Given the description of an element on the screen output the (x, y) to click on. 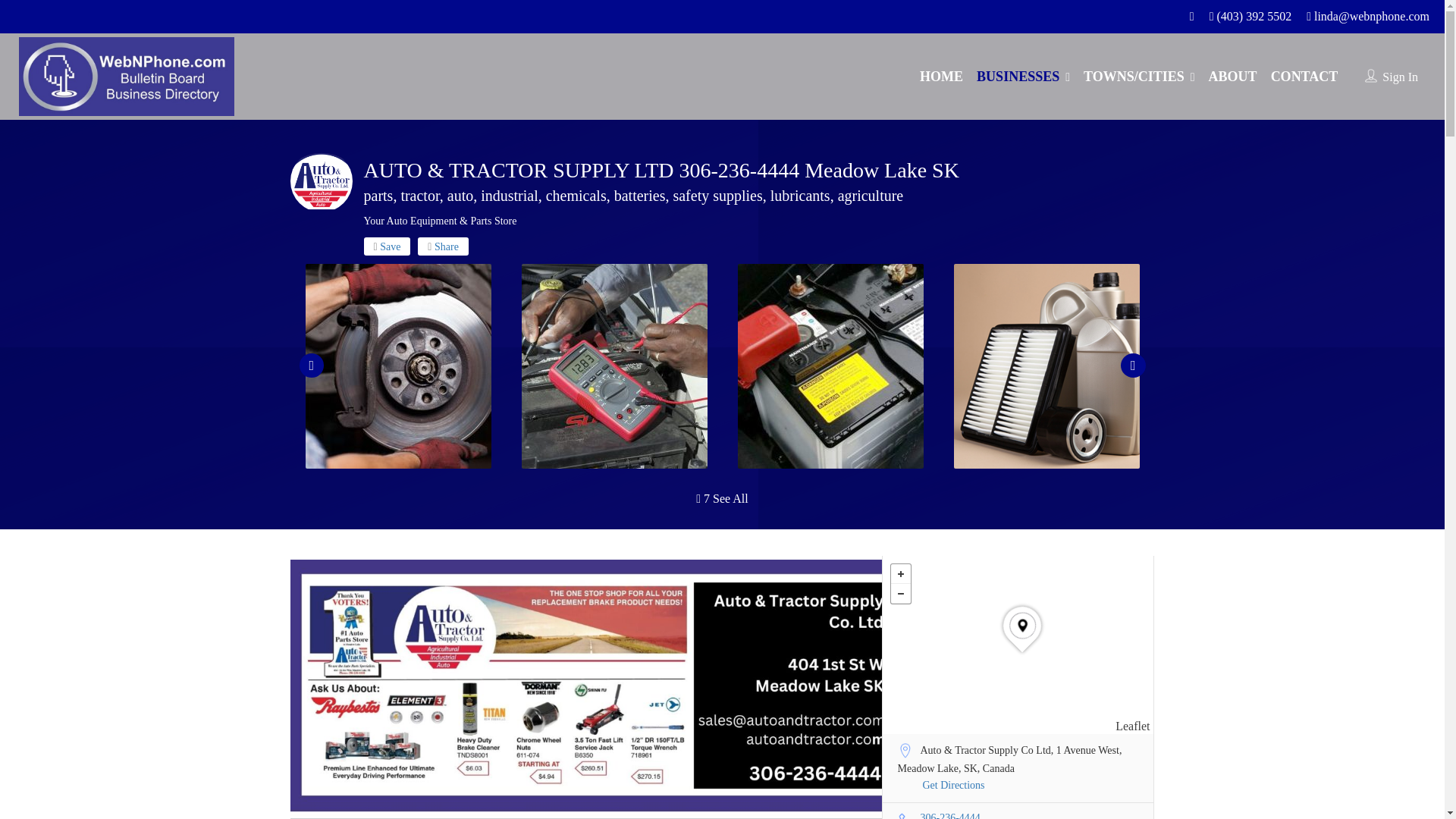
Zoom out (899, 593)
A JS library for interactive maps (1132, 725)
Zoom in (899, 573)
